Given the description of an element on the screen output the (x, y) to click on. 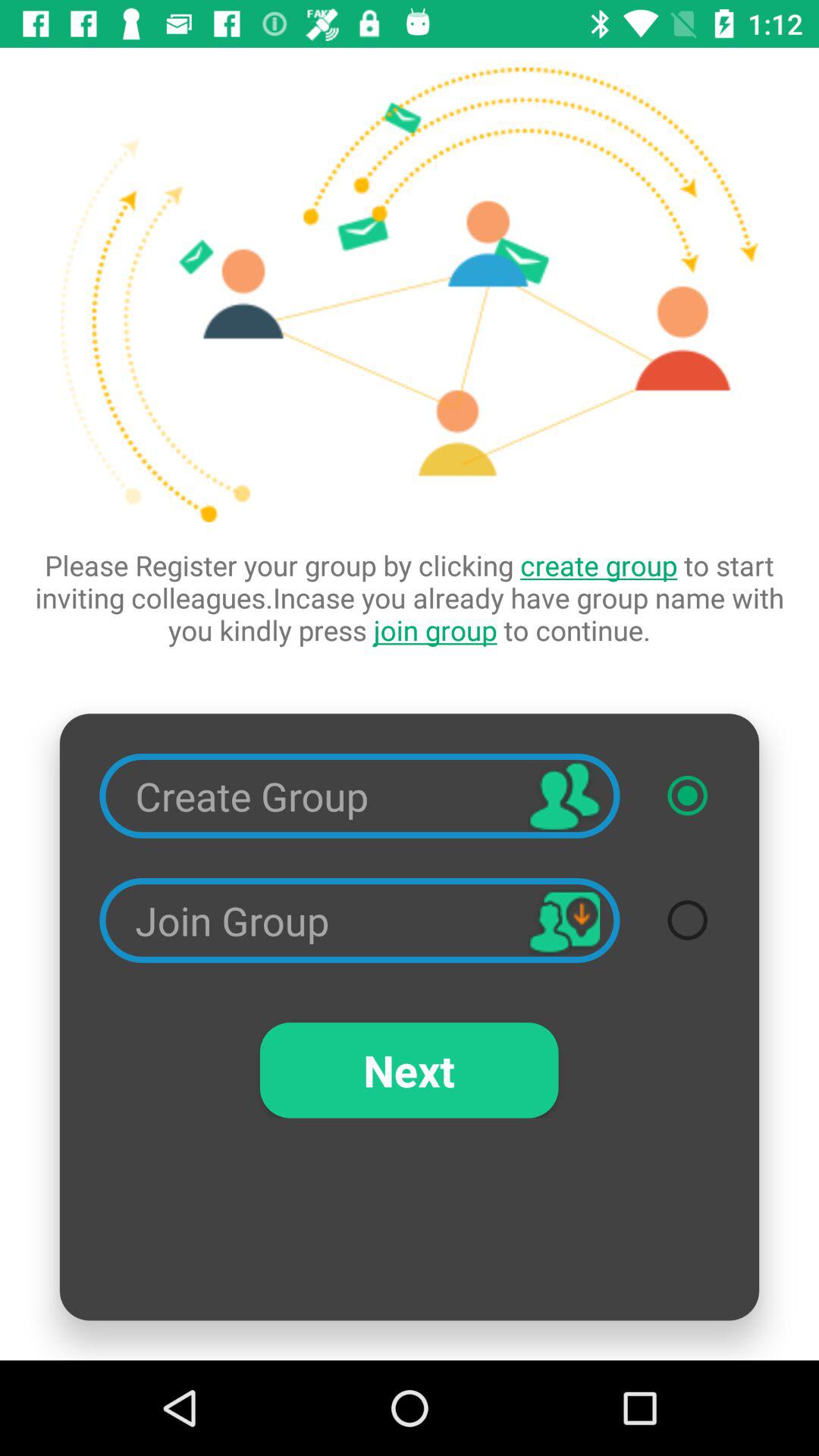
create group (687, 795)
